Given the description of an element on the screen output the (x, y) to click on. 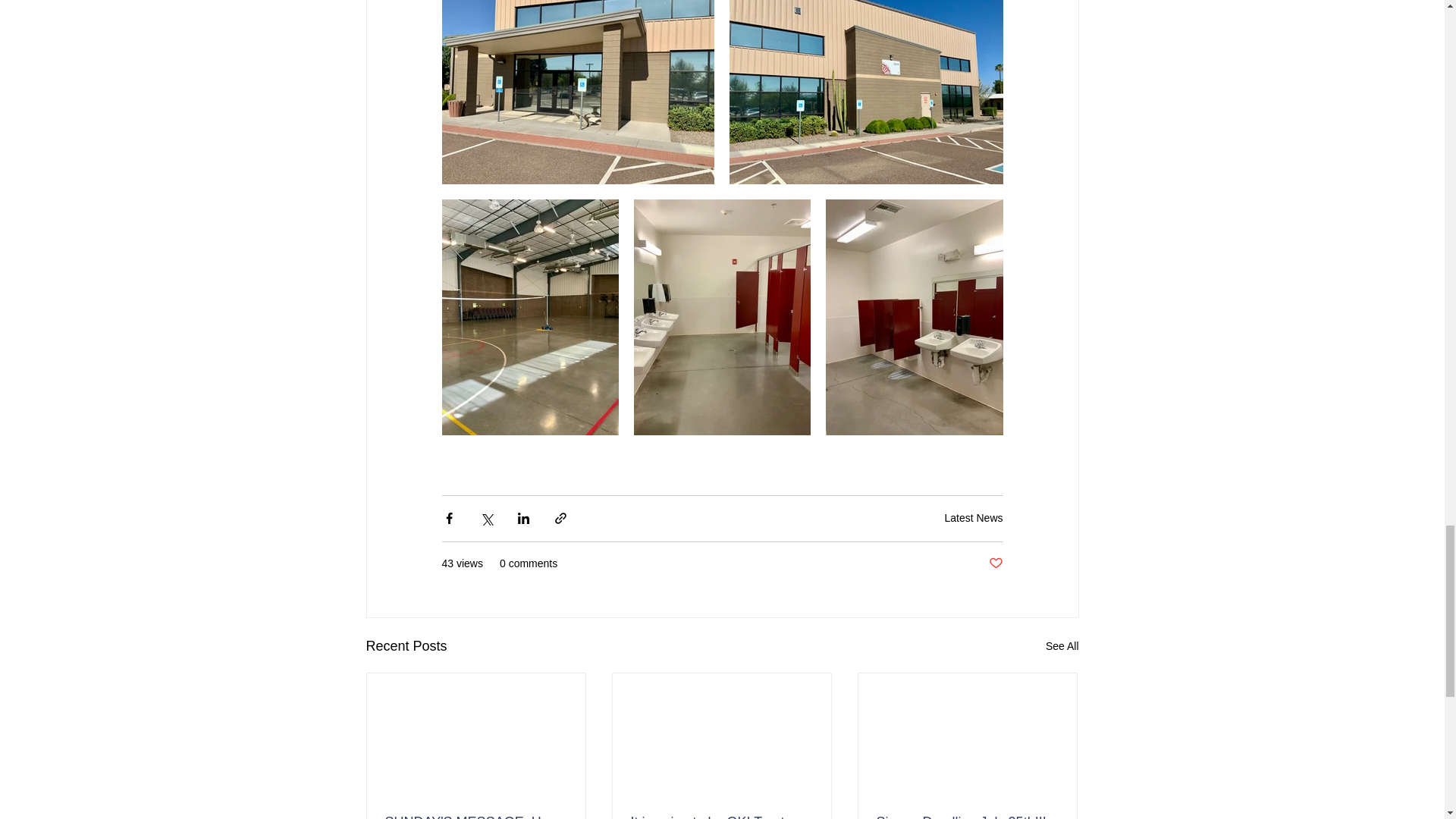
See All (1061, 646)
It is going to be OK! Trust Him! (721, 816)
Signup Deadline July 25th!!! (967, 816)
SUNDAY'S MESSAGE: How are you holding onto faith? (476, 816)
Post not marked as liked (995, 563)
Latest News (973, 517)
